Given the description of an element on the screen output the (x, y) to click on. 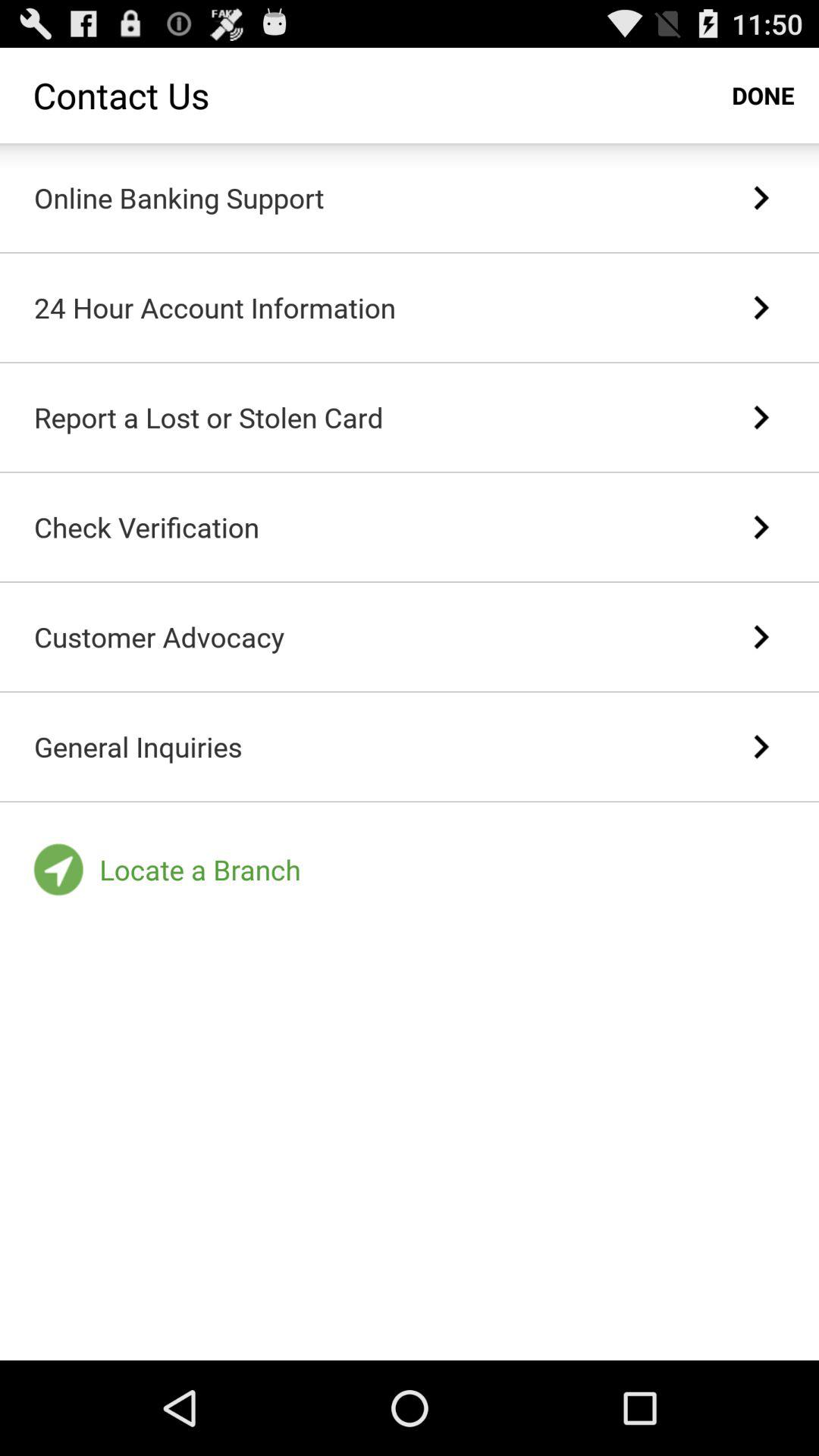
turn on the check verification icon (146, 527)
